Given the description of an element on the screen output the (x, y) to click on. 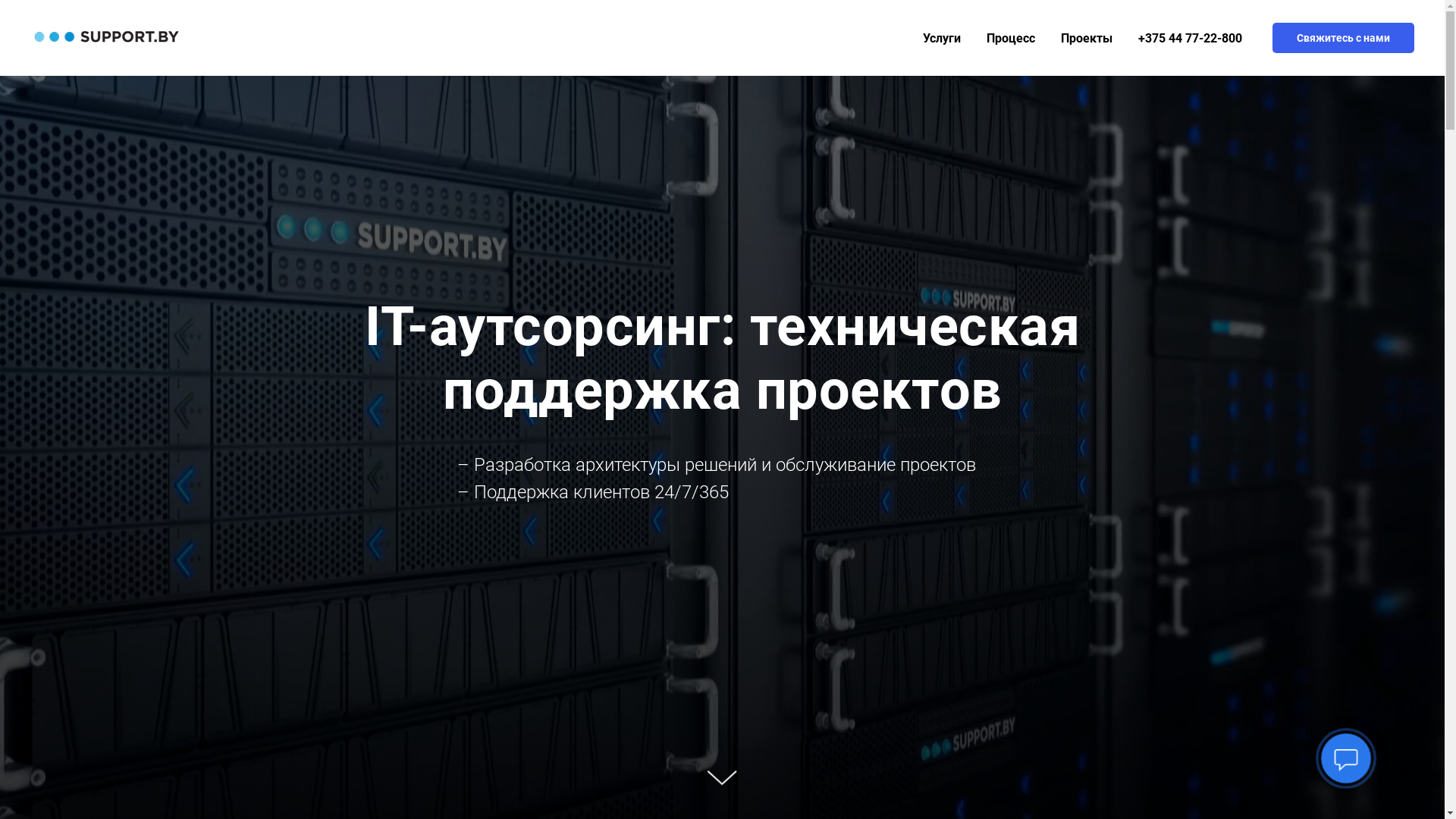
+375 44 77-22-800 Element type: text (1190, 37)
